Given the description of an element on the screen output the (x, y) to click on. 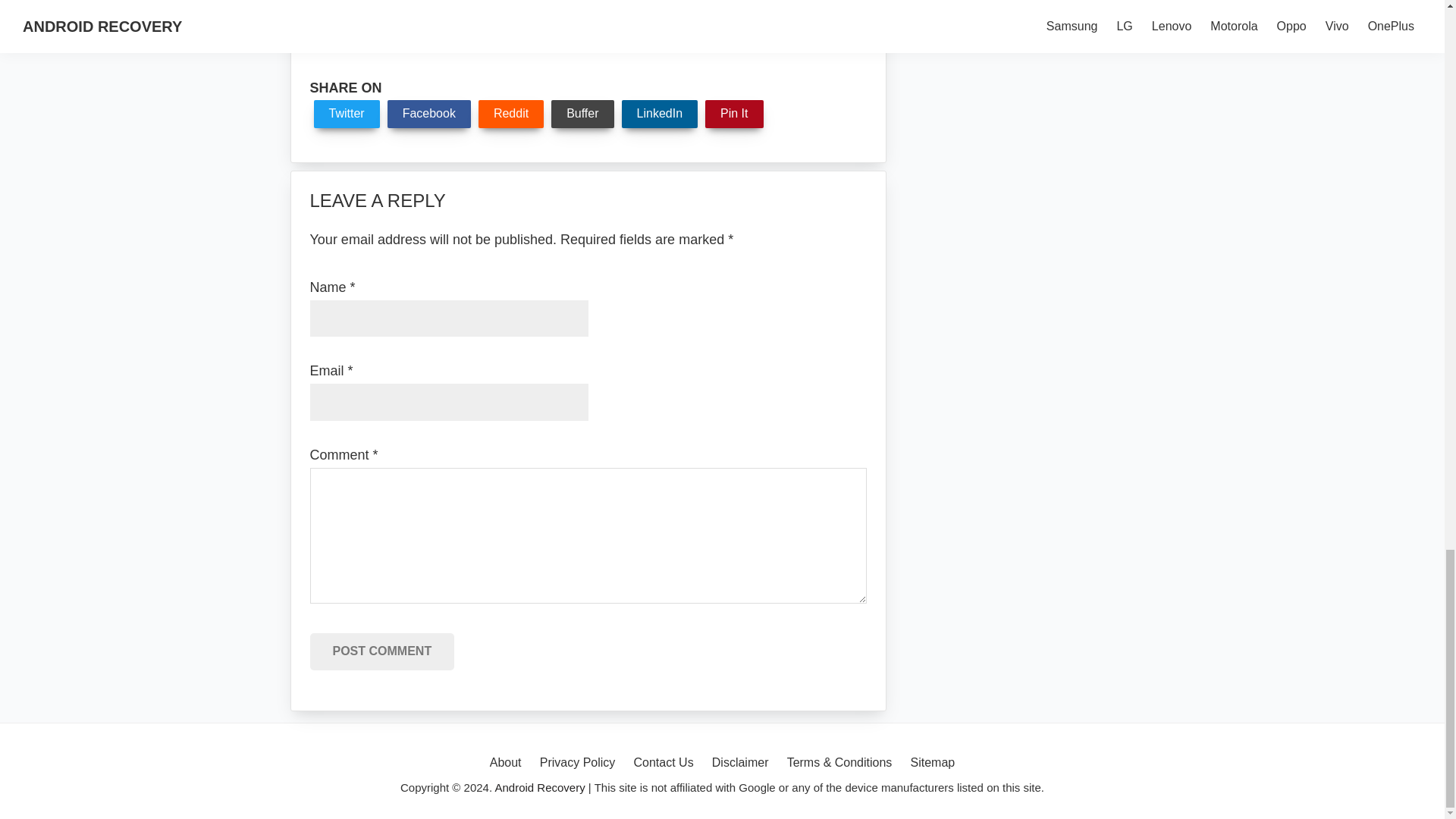
About (505, 762)
Twitter (347, 113)
Disclaimer (739, 762)
LinkedIn (659, 113)
Privacy Policy (577, 762)
POST COMMENT (381, 651)
Facebook (428, 113)
Buffer (581, 113)
Pin It (733, 113)
Contact Us (663, 762)
Reddit (511, 113)
POST COMMENT (381, 651)
